Given the description of an element on the screen output the (x, y) to click on. 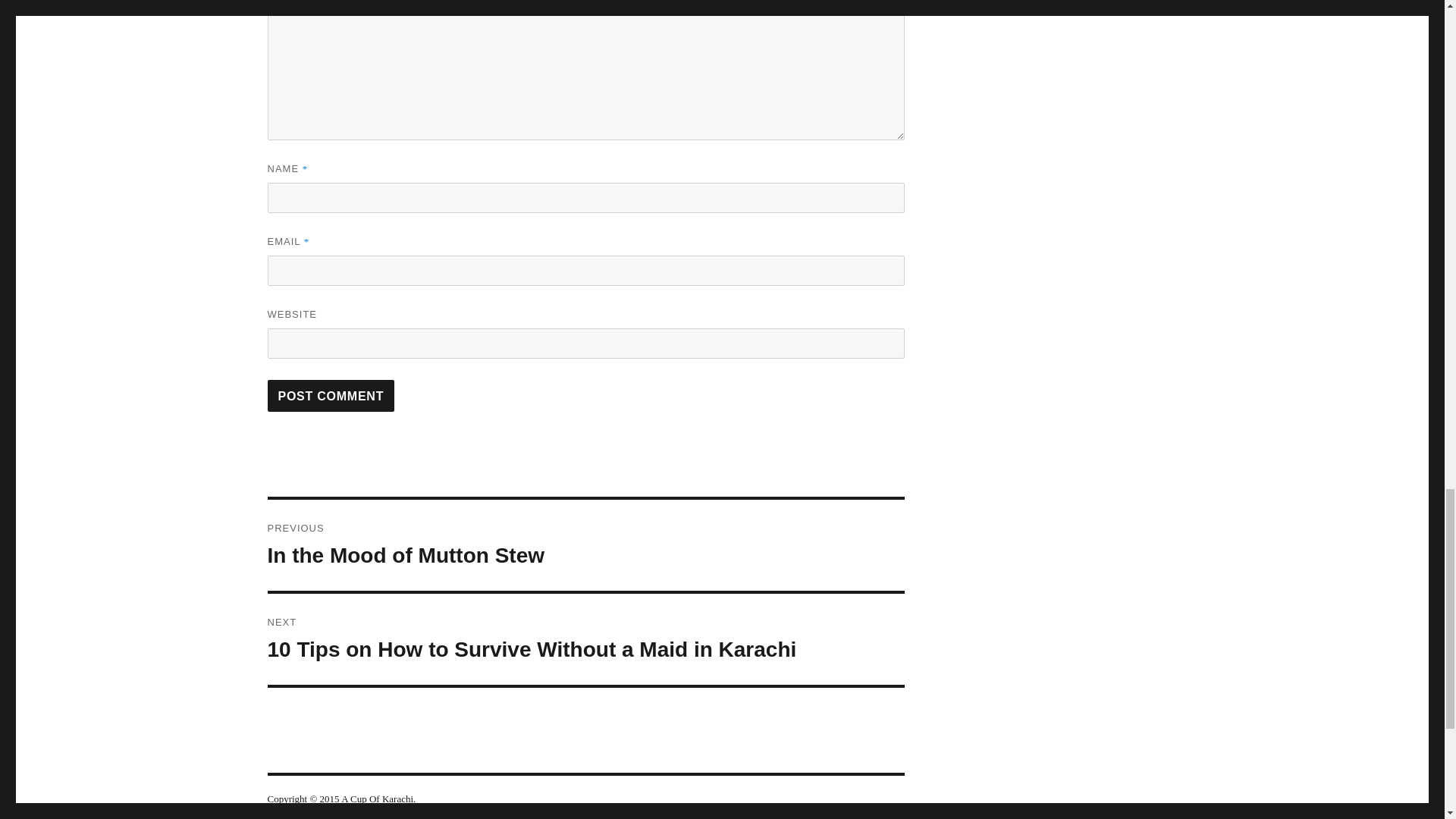
Post Comment (330, 395)
Post Comment (585, 544)
